Given the description of an element on the screen output the (x, y) to click on. 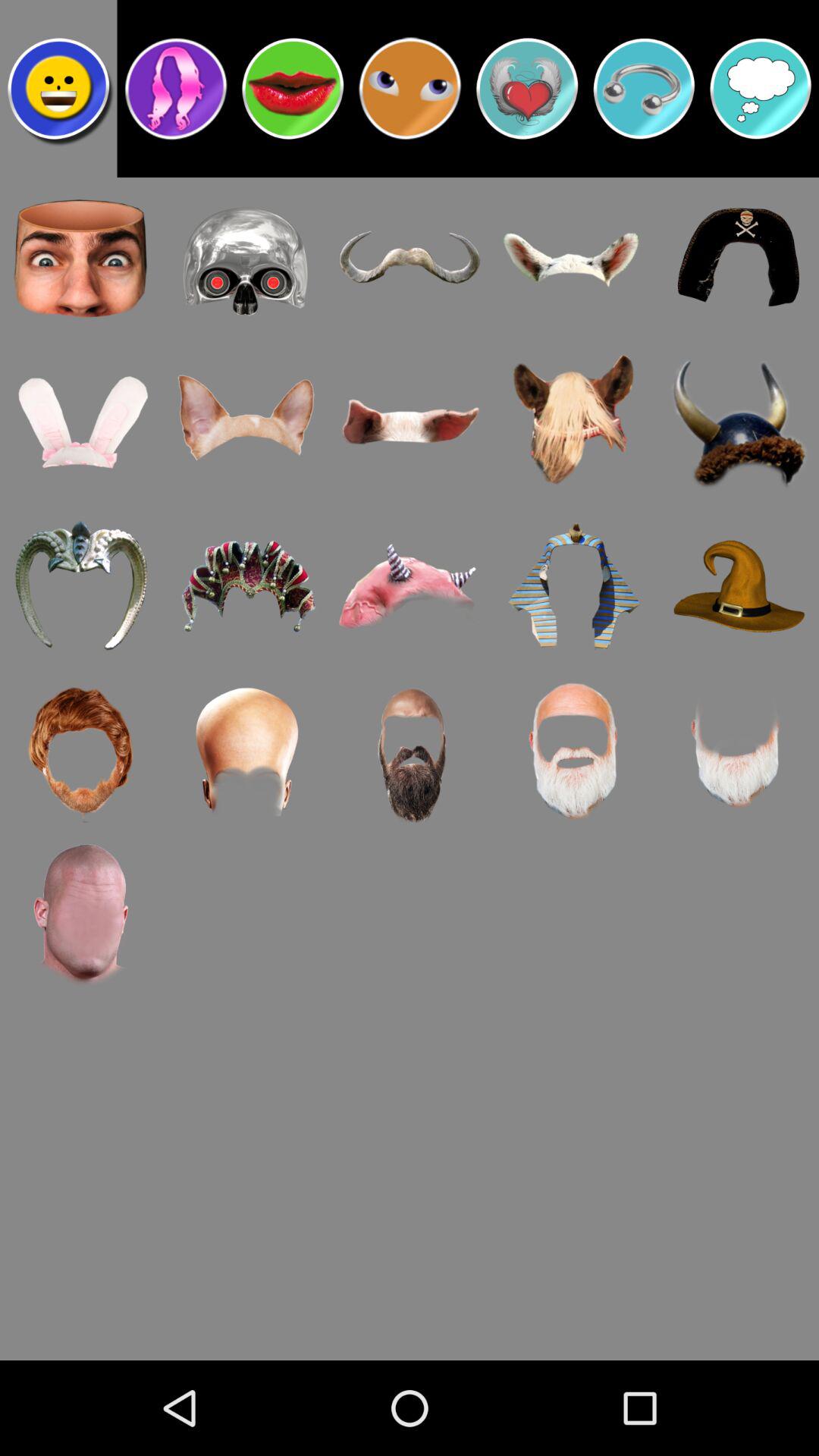
select eyes emoji (409, 88)
